Given the description of an element on the screen output the (x, y) to click on. 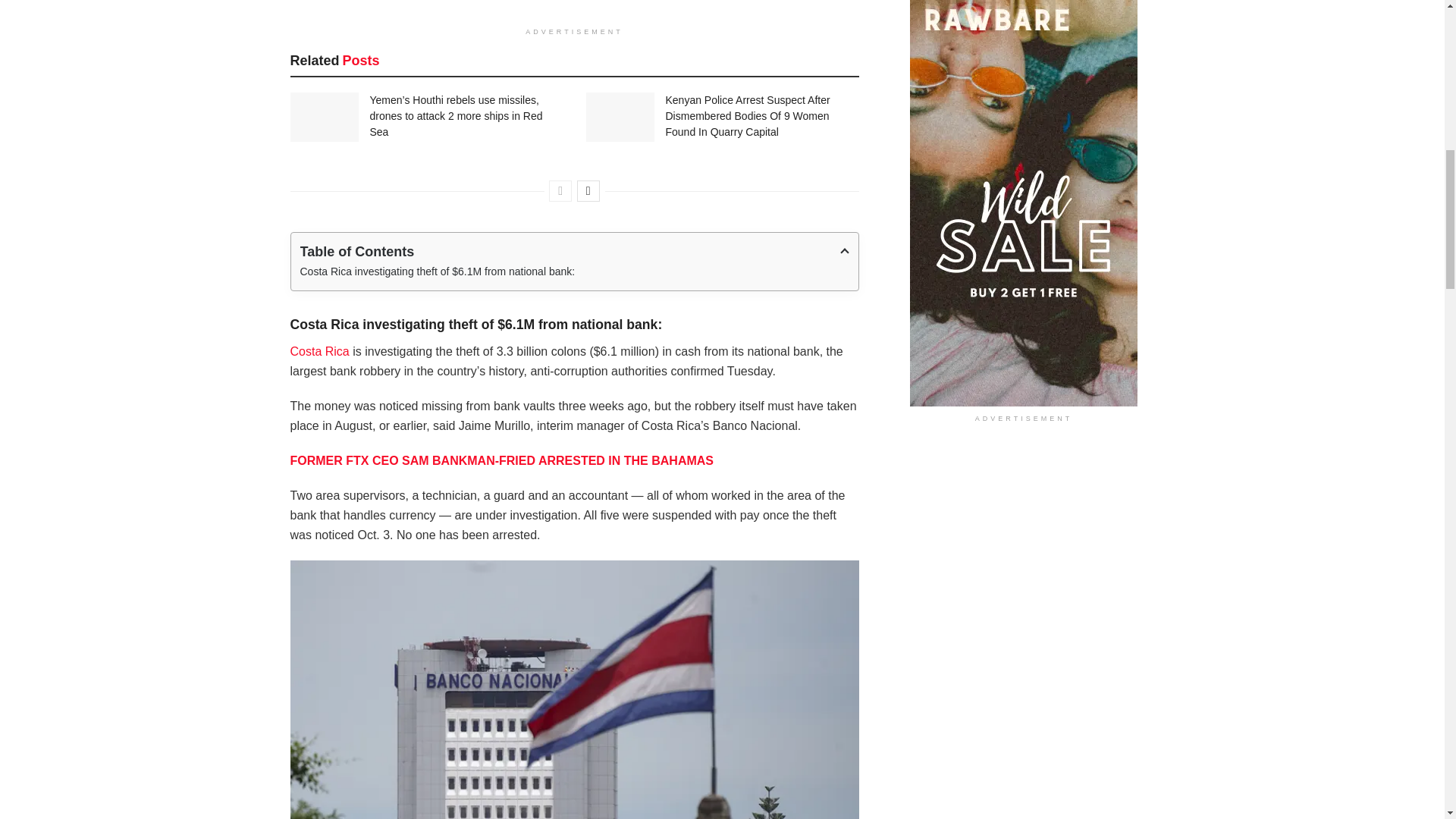
Next (587, 190)
Previous (560, 190)
